Given the description of an element on the screen output the (x, y) to click on. 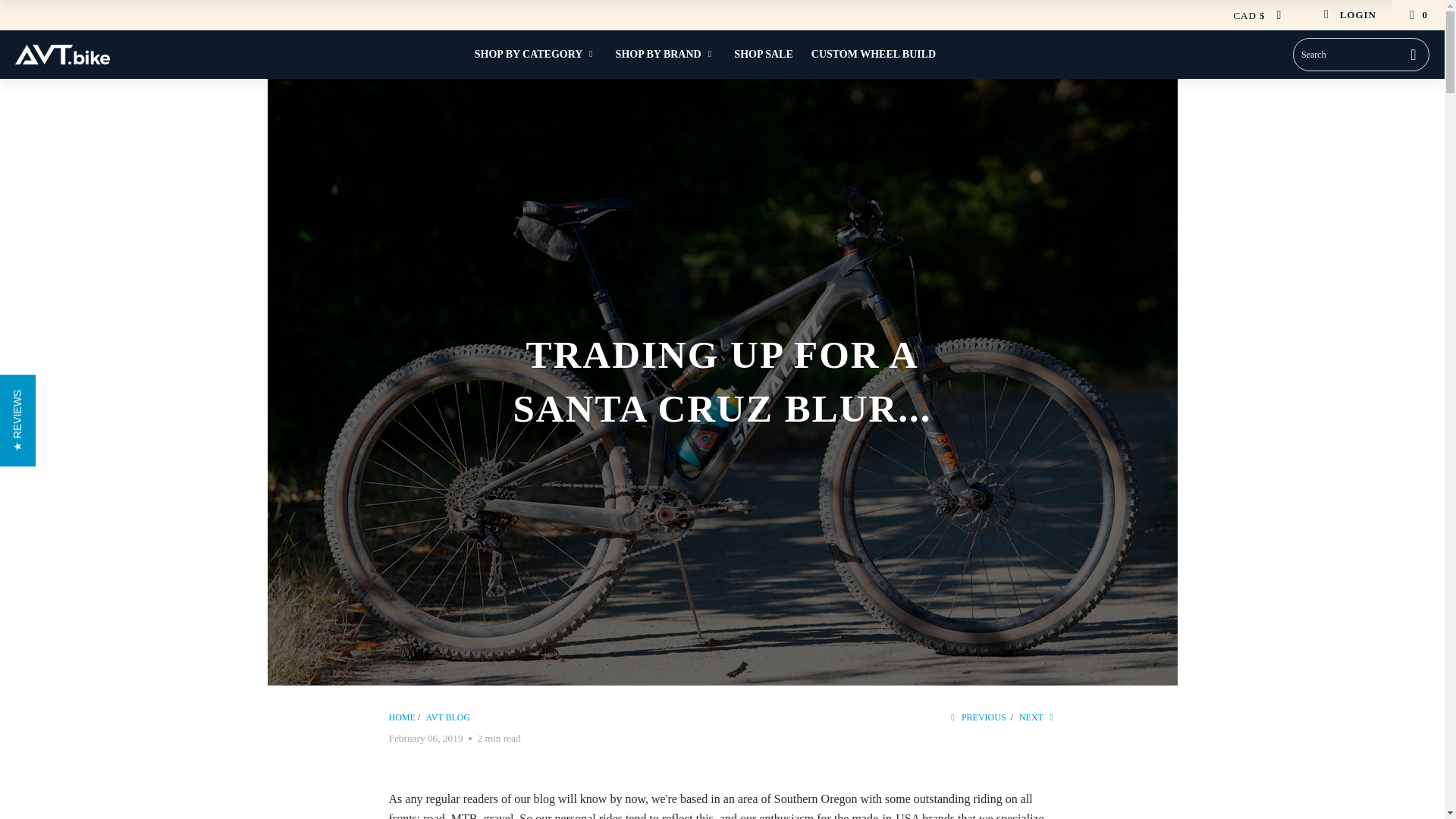
AVT Blog (448, 716)
AVT.Bike (401, 716)
My Account  (1349, 15)
AVT.Bike (62, 54)
